Given the description of an element on the screen output the (x, y) to click on. 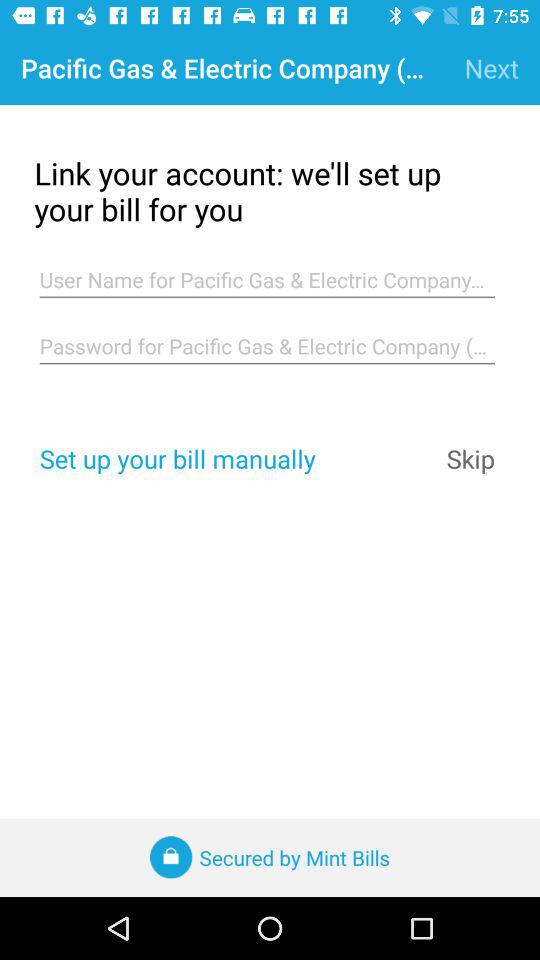
tap the item at the center (267, 346)
